Given the description of an element on the screen output the (x, y) to click on. 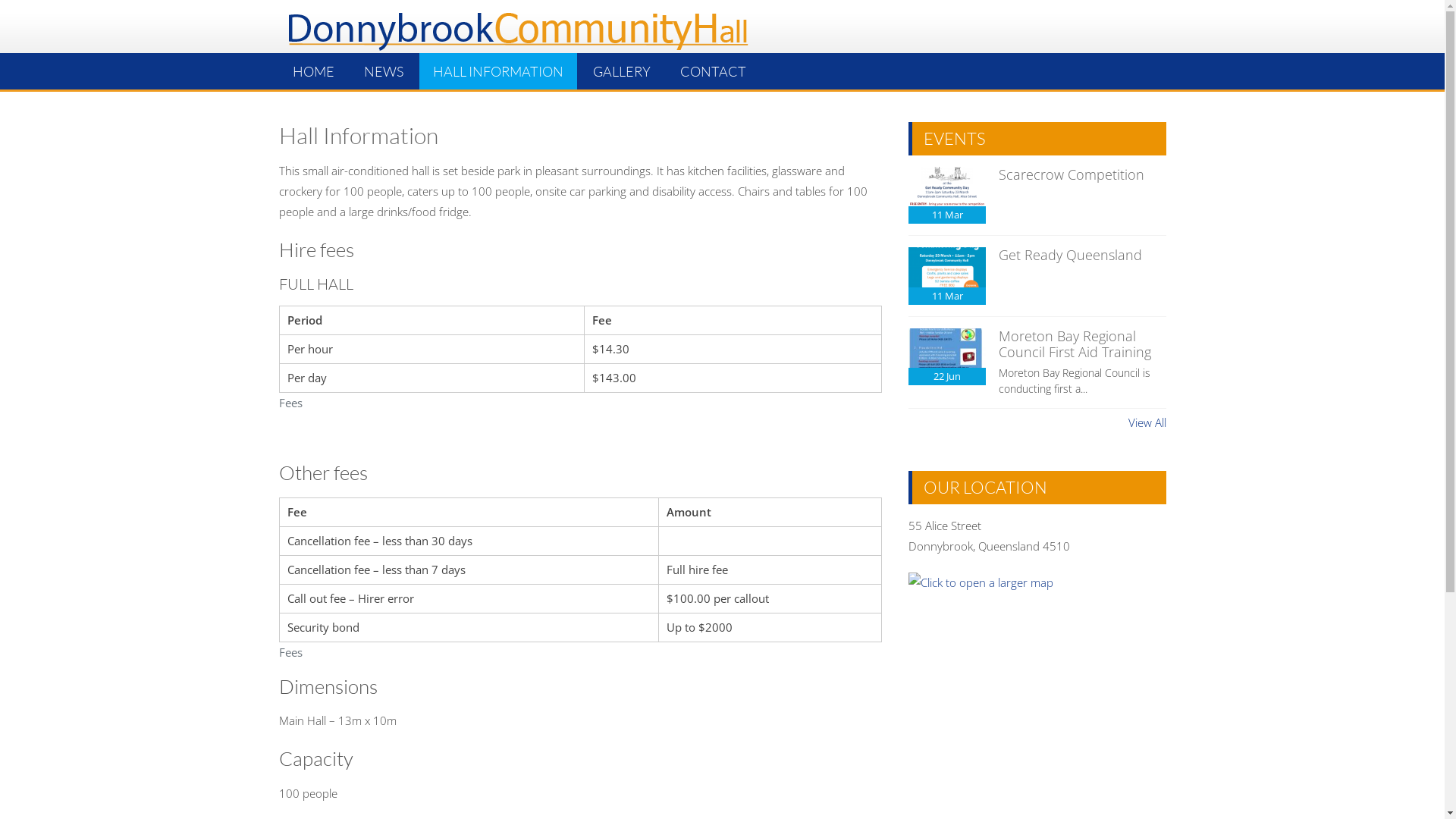
11 Mar Element type: text (946, 275)
22 Jun Element type: text (946, 356)
Scarecrow Competition Element type: text (1071, 174)
HALL INFORMATION Element type: text (497, 71)
Moreton Bay Regional Council First Aid Training Element type: text (1074, 343)
11 Mar Element type: text (946, 194)
GALLERY Element type: text (621, 71)
Get Ready Queensland Element type: text (1070, 254)
HOME Element type: text (313, 71)
View All Element type: text (1147, 422)
NEWS Element type: text (383, 71)
CONTACT Element type: text (712, 71)
Click to open a larger map Element type: hover (980, 582)
